Given the description of an element on the screen output the (x, y) to click on. 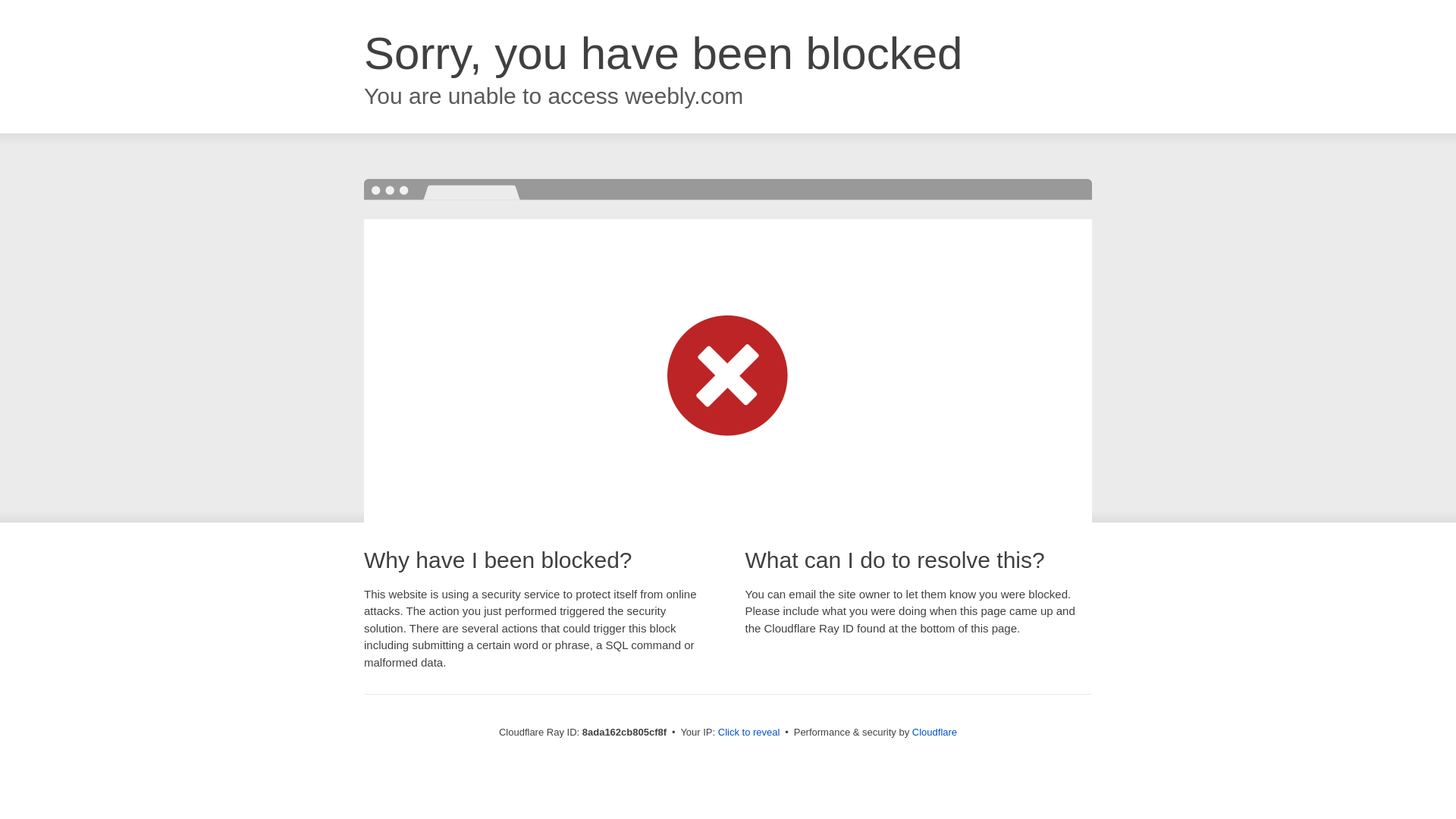
Click to reveal (748, 732)
Cloudflare (934, 731)
